Given the description of an element on the screen output the (x, y) to click on. 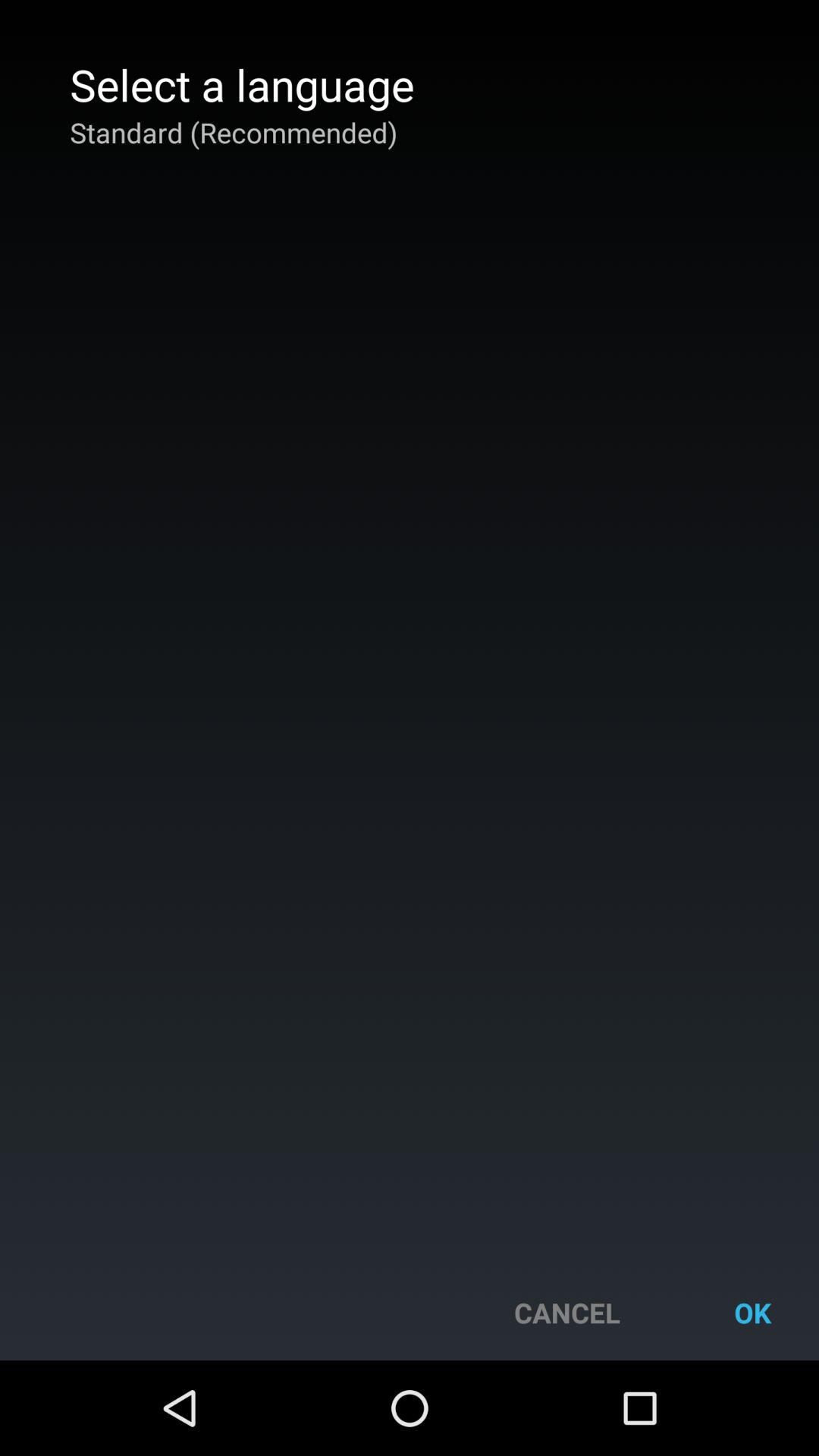
click the app below the select a language app (233, 132)
